Given the description of an element on the screen output the (x, y) to click on. 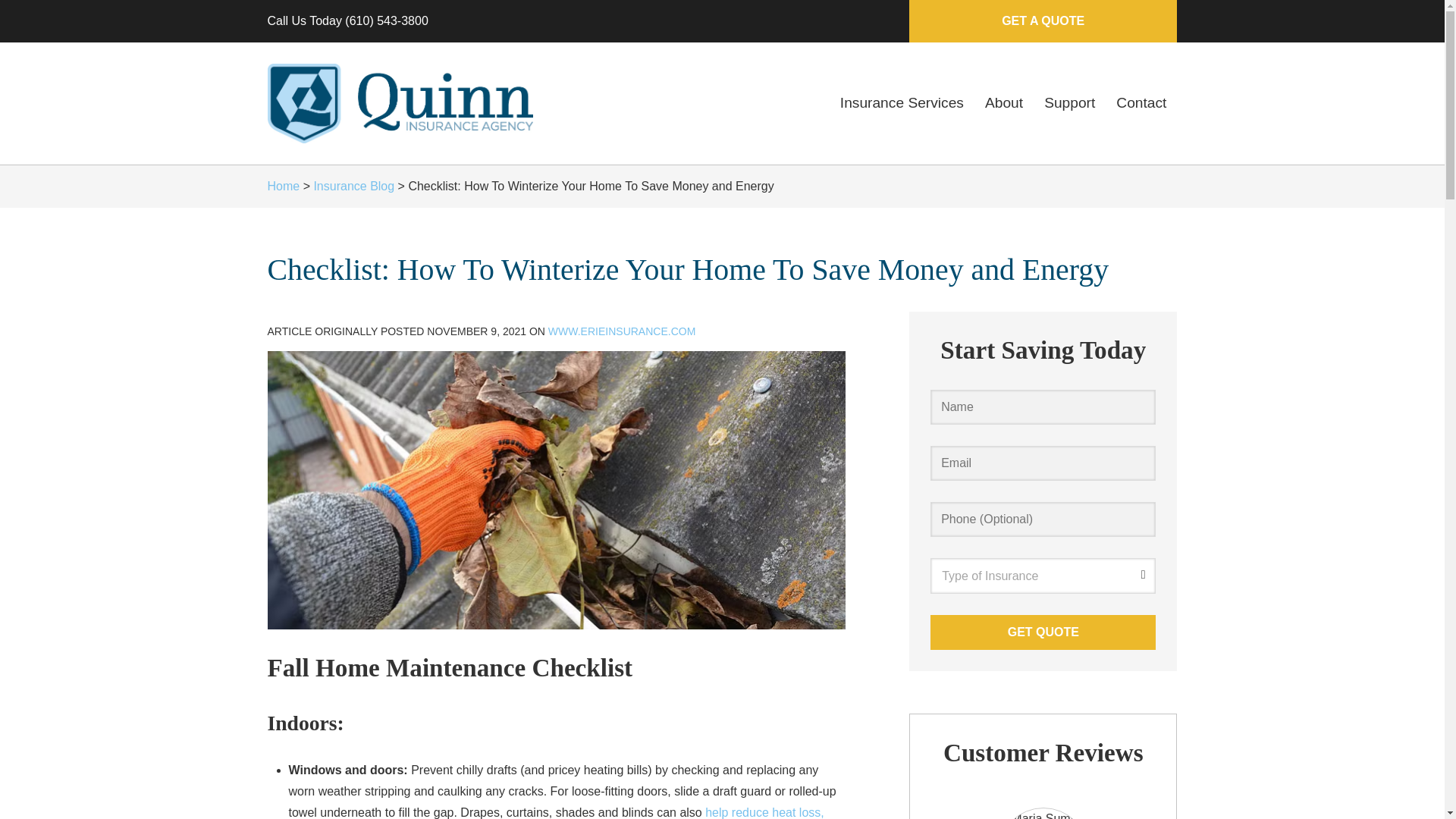
Support (1069, 103)
GET A QUOTE (1042, 21)
Insurance Services (901, 103)
Quinn Insurance (399, 103)
Get Quote (1043, 632)
About (1003, 103)
